Given the description of an element on the screen output the (x, y) to click on. 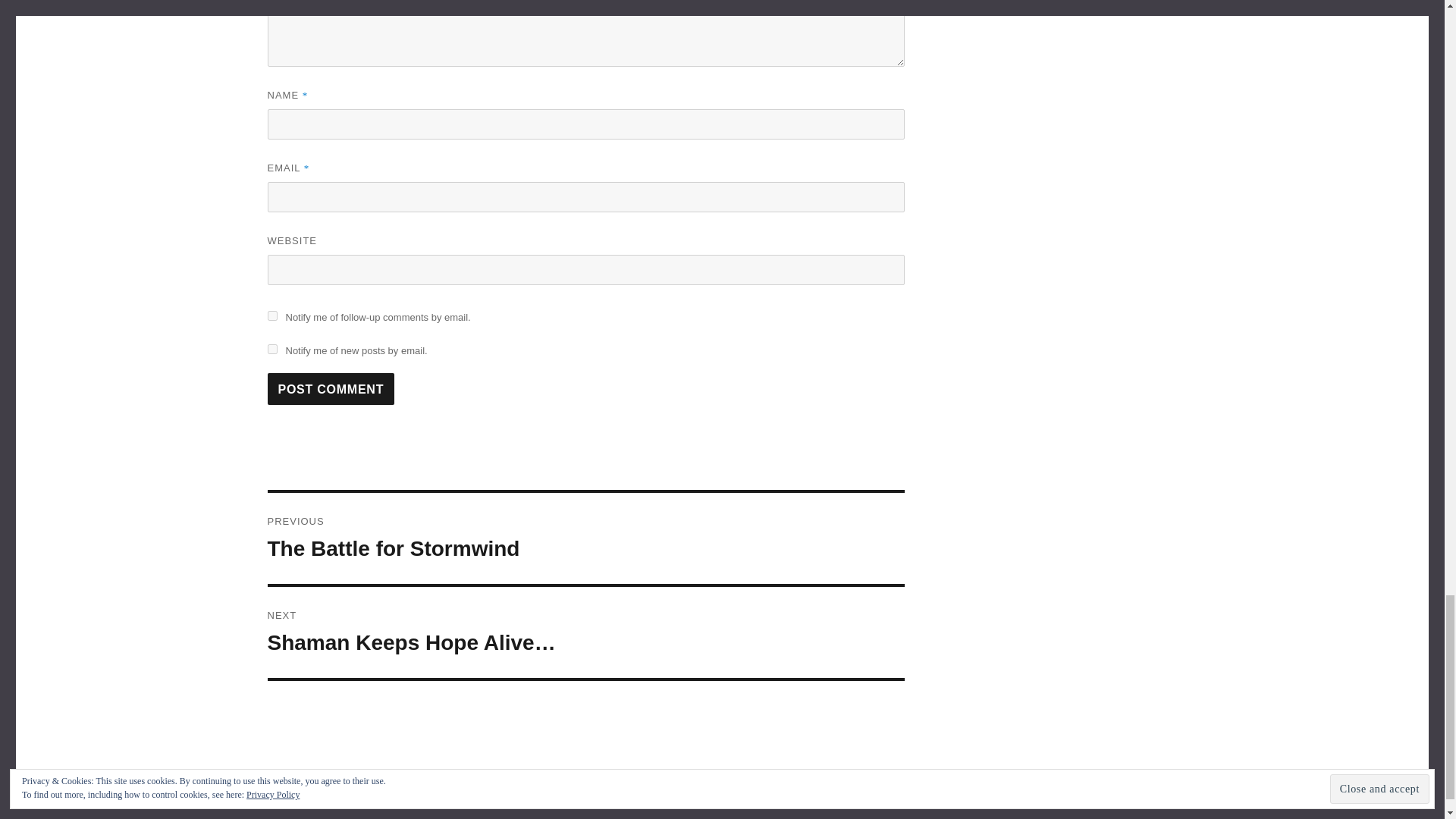
subscribe (271, 348)
subscribe (271, 316)
Post Comment (330, 388)
Privacy Policy (416, 778)
Post Comment (585, 538)
